Given the description of an element on the screen output the (x, y) to click on. 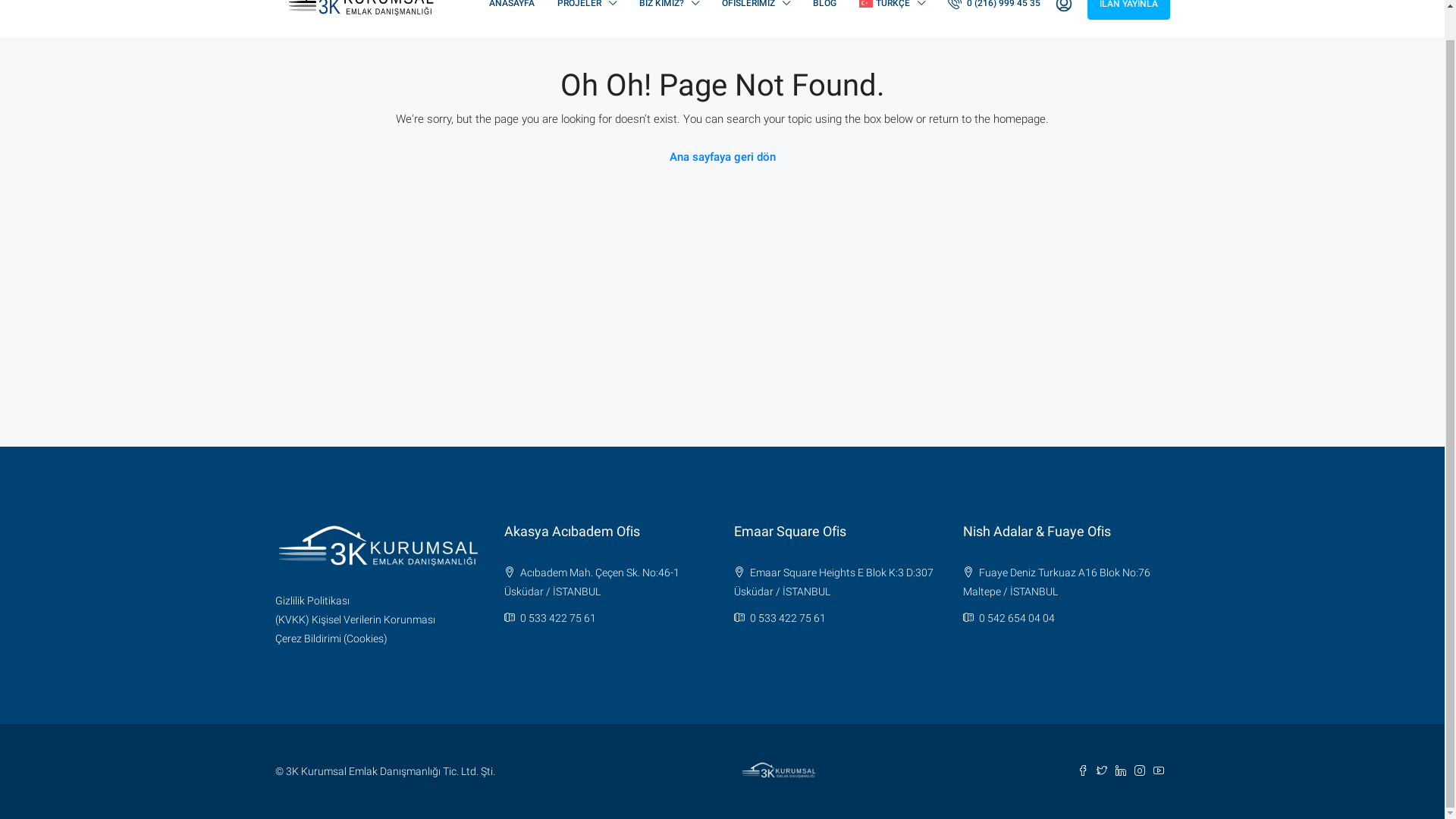
0 (216) 999 45 35 Element type: text (997, 34)
PROJELER Element type: text (586, 34)
ANASAYFA Element type: text (511, 34)
OFISLERIMIZ Element type: text (755, 34)
BLOG Element type: text (824, 34)
BIZ KIMIZ? Element type: text (668, 34)
